Given the description of an element on the screen output the (x, y) to click on. 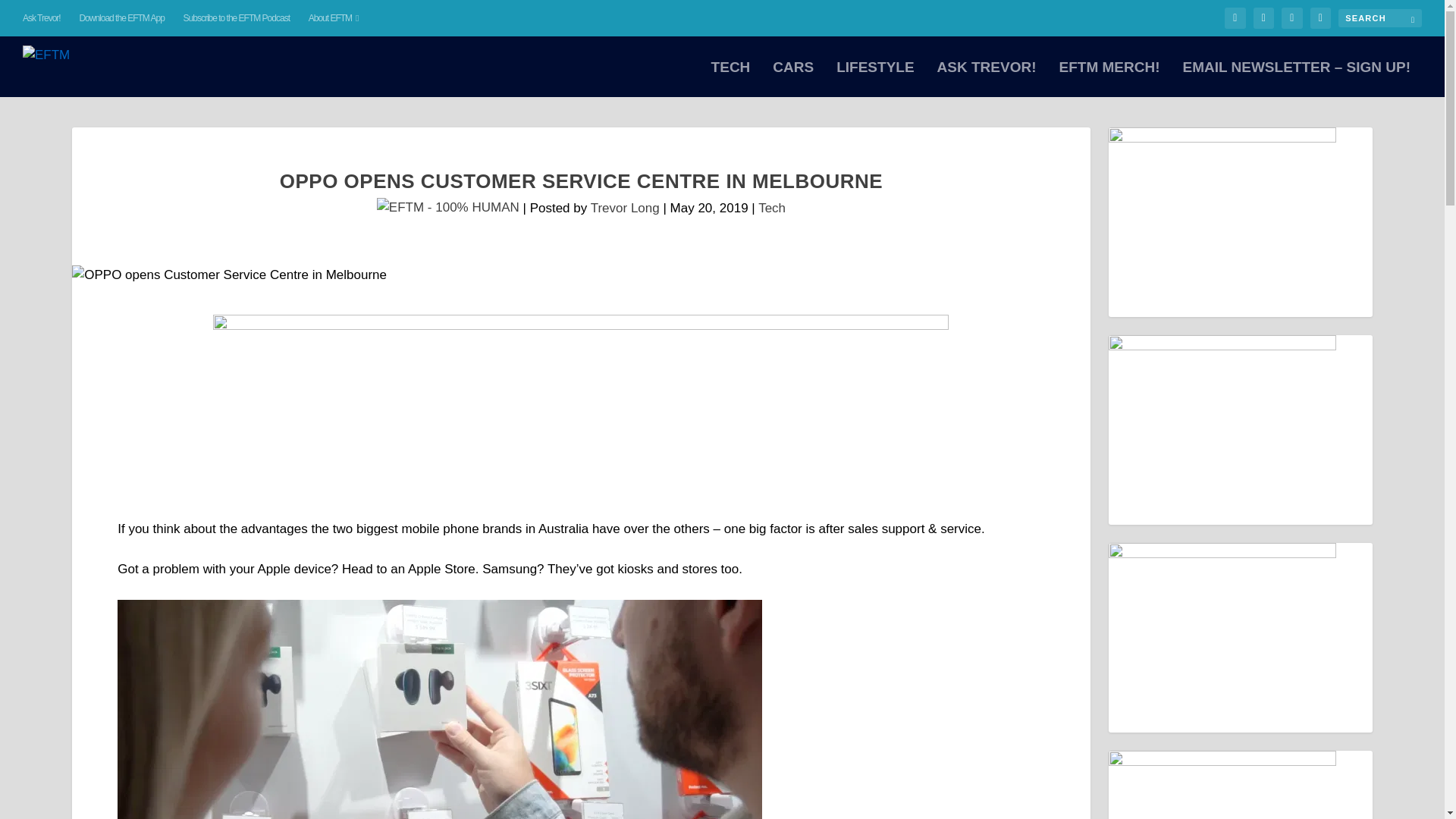
CARS (793, 79)
Search for: (1380, 18)
Subscribe to the EFTM Podcast (236, 18)
Ask Trevor! (42, 18)
Download the EFTM App (120, 18)
EFTM MERCH! (1108, 79)
Trevor Long (625, 207)
Tech (772, 207)
Posts by Trevor Long (625, 207)
ASK TREVOR! (986, 79)
